Given the description of an element on the screen output the (x, y) to click on. 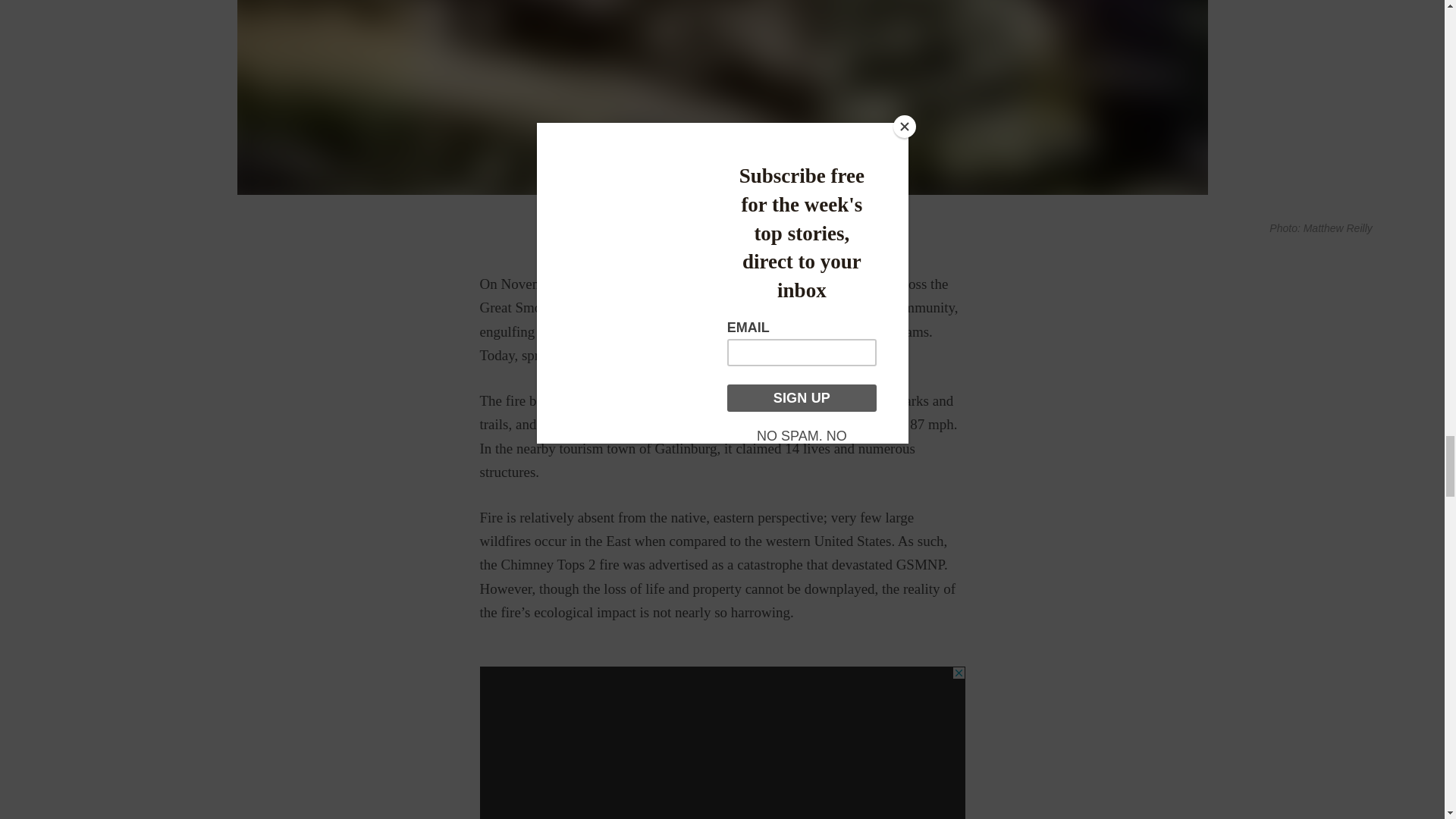
3rd party ad content (721, 742)
